Given the description of an element on the screen output the (x, y) to click on. 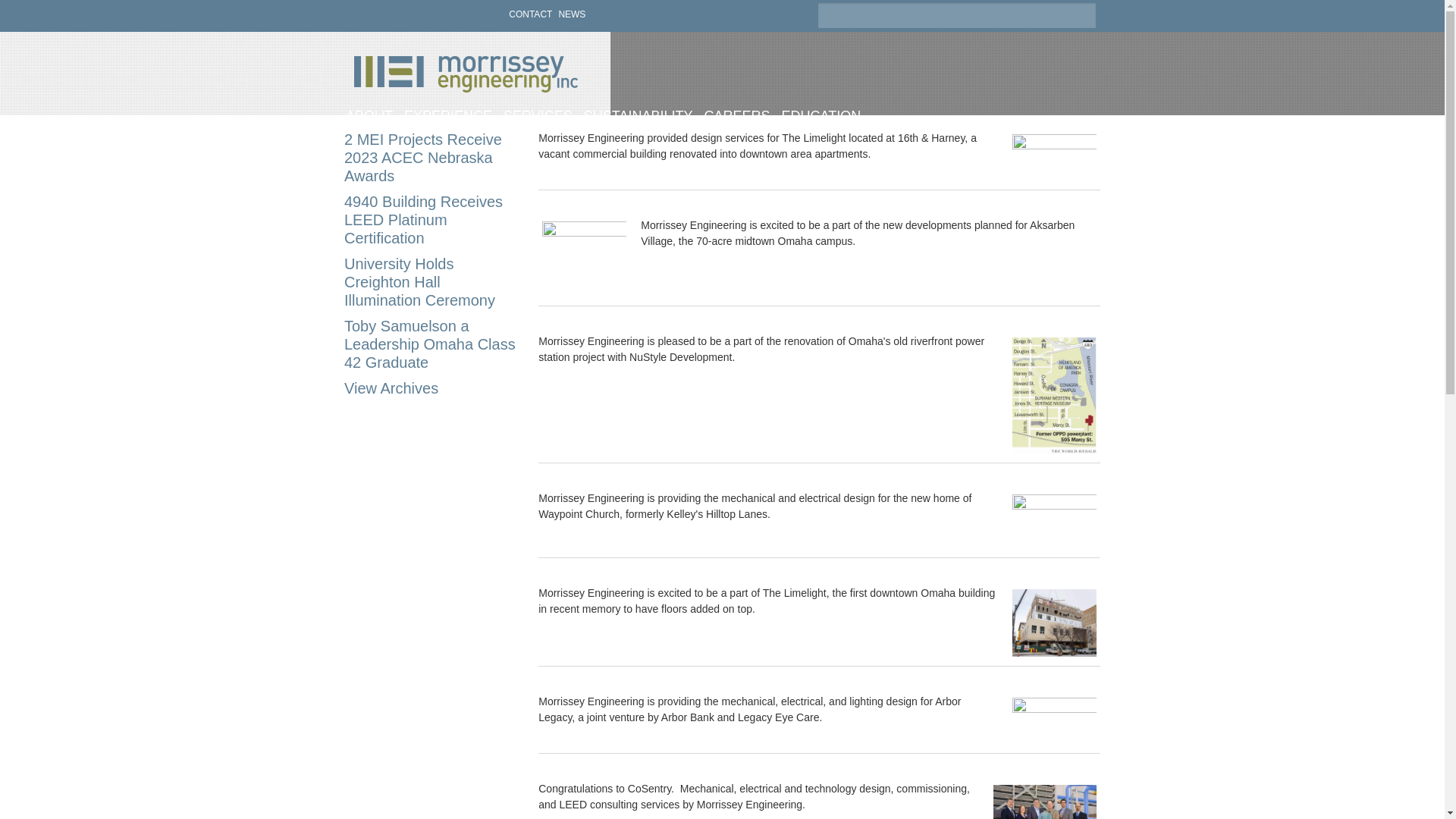
Toby Samuelson a Leadership Omaha Class 42 Graduate (429, 344)
2 MEI Projects Receive 2023 ACEC Nebraska Awards (422, 157)
University Holds Creighton Hall Illumination Ceremony (419, 281)
4940 Building Receives LEED Platinum Certification (422, 219)
